Given the description of an element on the screen output the (x, y) to click on. 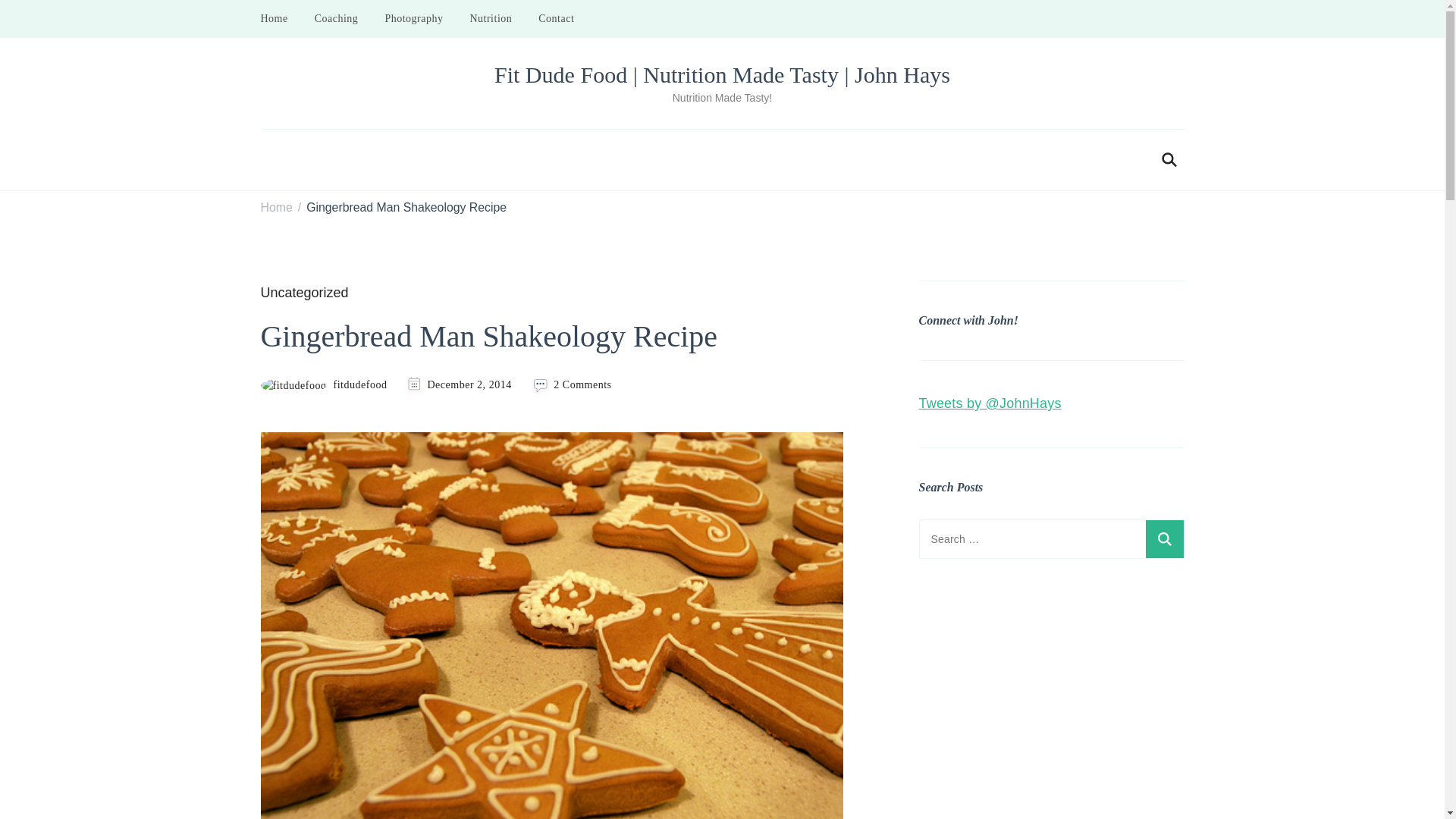
Nutrition (490, 18)
Search (1163, 538)
Coaching (336, 18)
Photography (413, 18)
Home (276, 208)
Gingerbread Man Shakeology Recipe (405, 208)
December 2, 2014 (468, 384)
fitdudefood (323, 384)
Search (1163, 538)
Contact (555, 18)
